Given the description of an element on the screen output the (x, y) to click on. 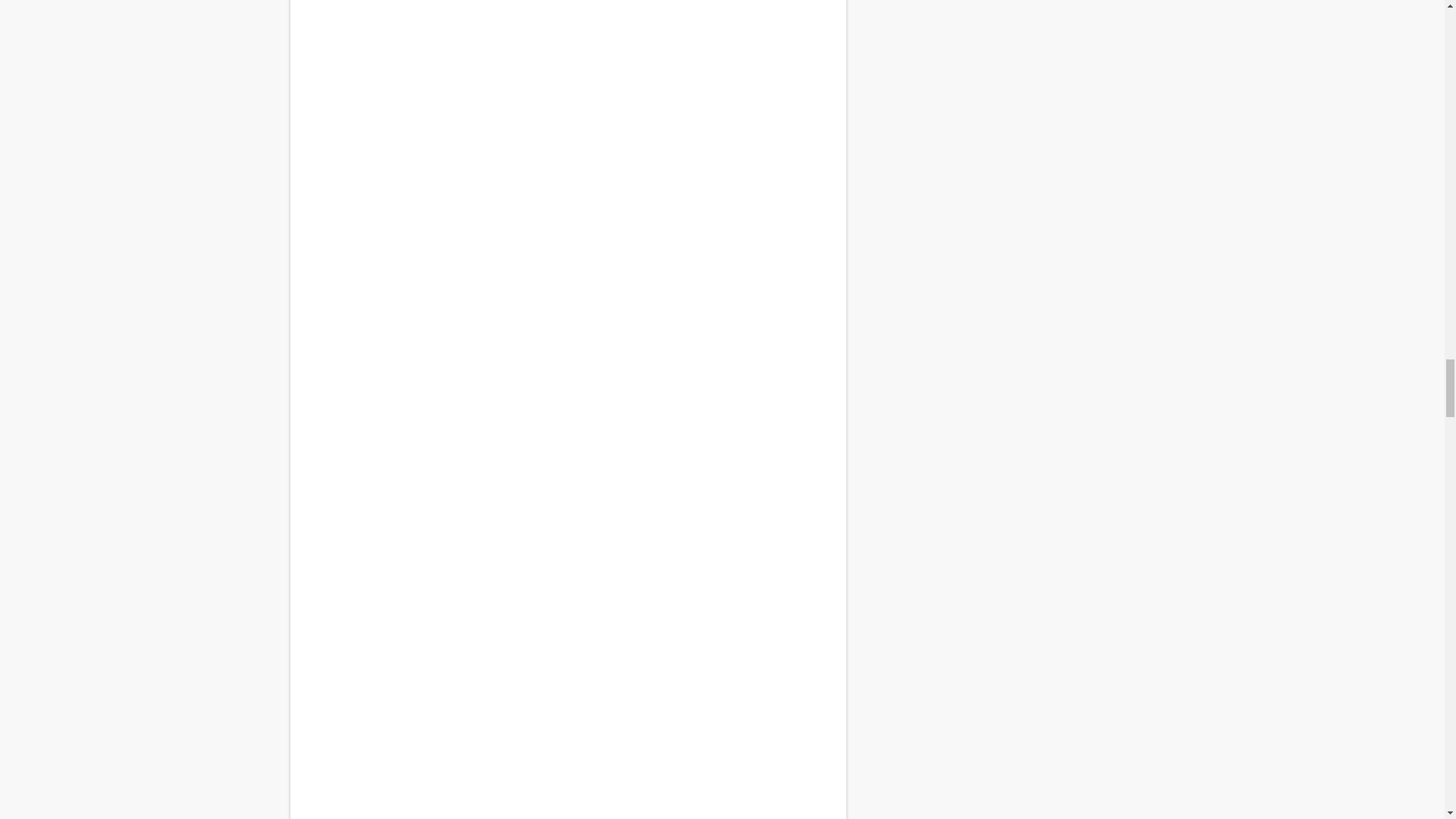
Topic Wise Words (567, 453)
